Given the description of an element on the screen output the (x, y) to click on. 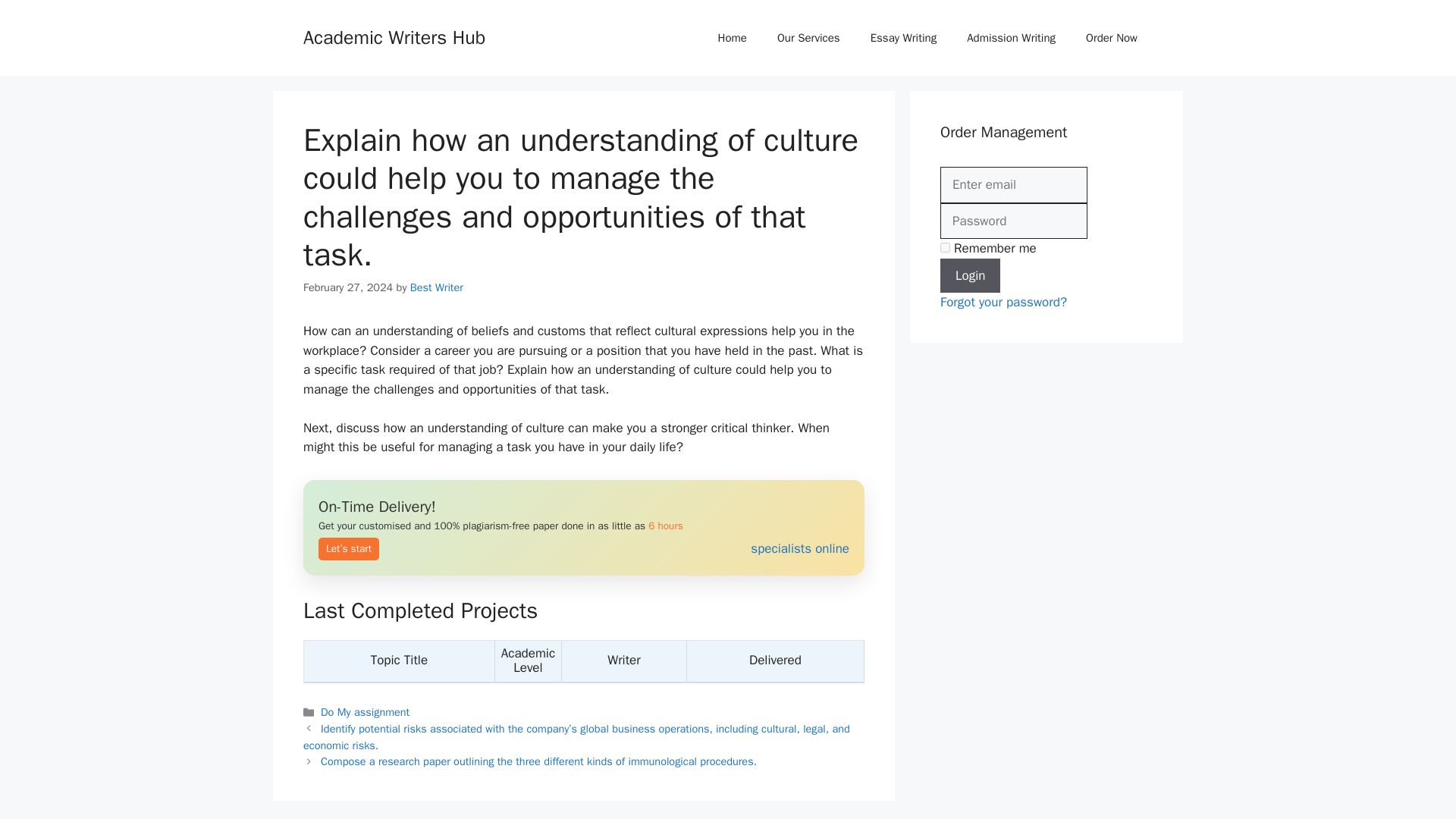
on (945, 247)
Do My assignment (364, 712)
Admission Writing (1011, 37)
Recover password (1003, 302)
Order Now (1111, 37)
click to Login (970, 274)
Best Writer (436, 287)
Home (732, 37)
View all posts by Best Writer (436, 287)
